Given the description of an element on the screen output the (x, y) to click on. 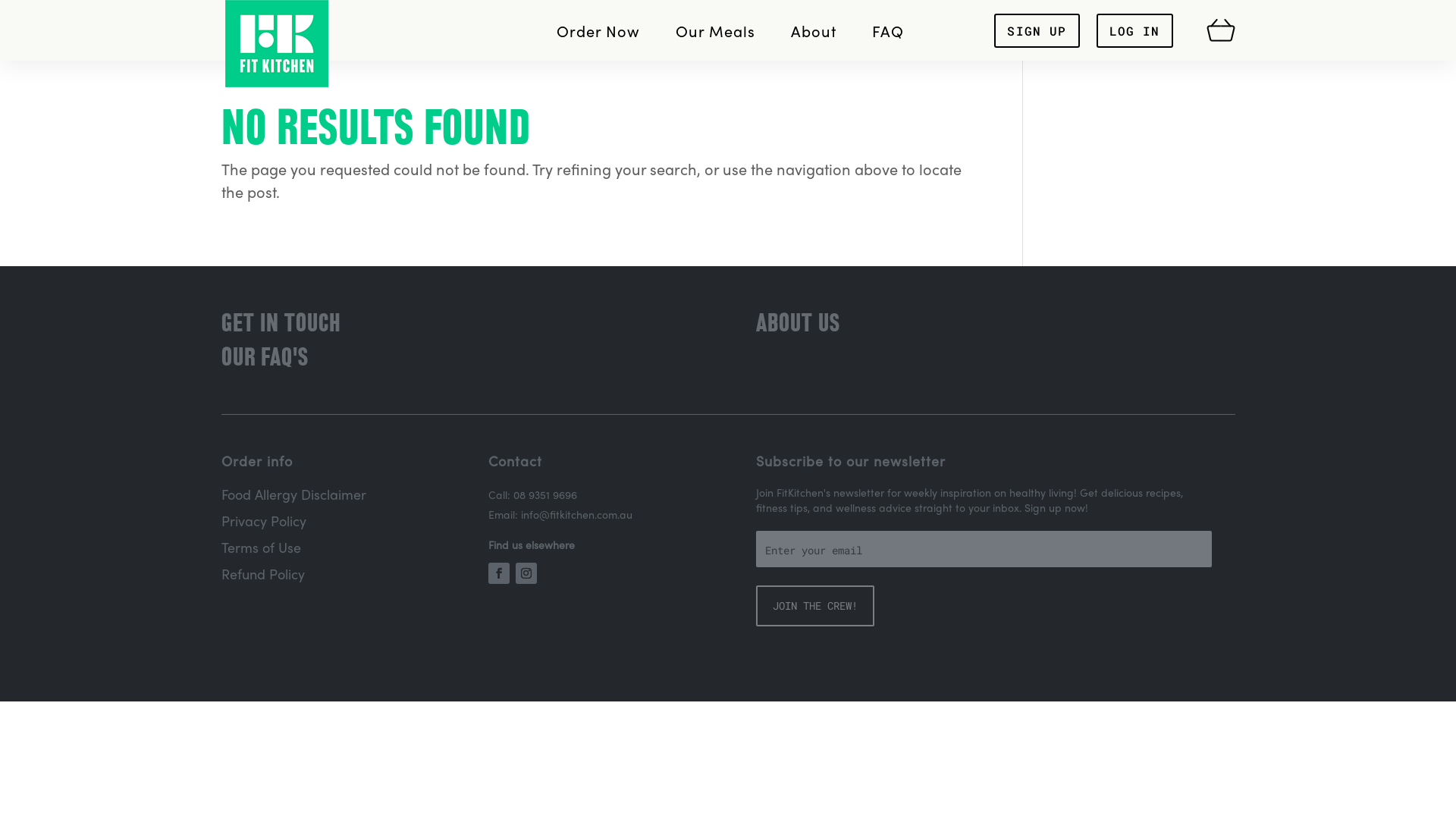
About Element type: text (813, 30)
GET IN TOUCH Element type: text (281, 322)
Follow on Instagram Element type: hover (525, 572)
SIGN UP Element type: text (1036, 30)
Privacy Policy Element type: text (263, 520)
Refund Policy Element type: text (262, 573)
OUR FAQ'S Element type: text (264, 357)
FAQ Element type: text (887, 30)
ABOUT US Element type: text (798, 322)
Terms of Use Element type: text (261, 546)
Order Now Element type: text (598, 30)
LOG IN Element type: text (1134, 30)
JOIN THE CREW! Element type: text (815, 605)
Our Meals Element type: text (715, 30)
Food Allergy Disclaimer Element type: text (293, 493)
Follow on Facebook Element type: hover (498, 572)
